Given the description of an element on the screen output the (x, y) to click on. 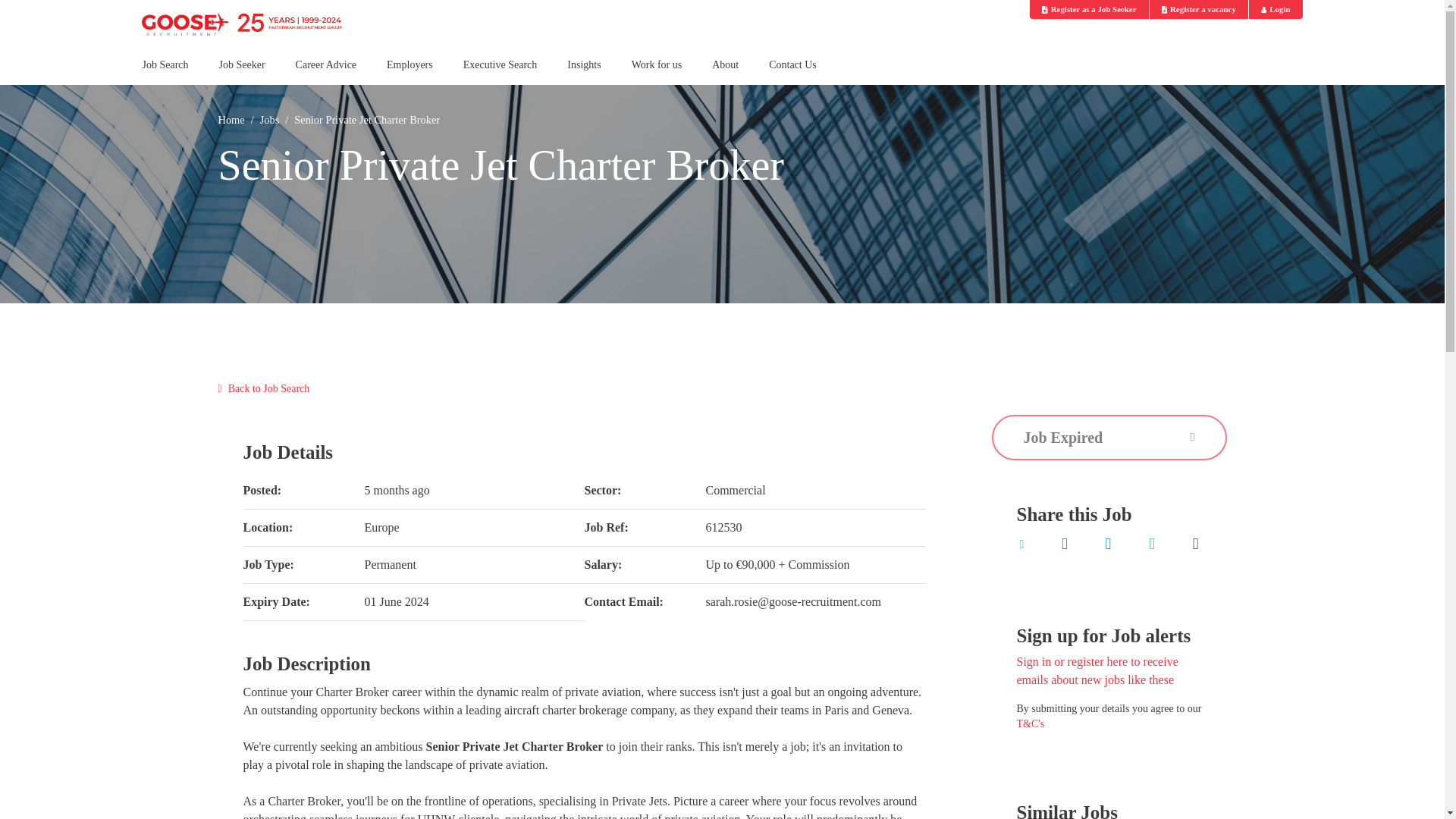
Job Search (165, 71)
Register a vacancy (1198, 9)
Login (1276, 9)
Career Advice (326, 71)
Employers (409, 71)
Executive Search (500, 71)
Job Seeker (242, 71)
Register as a Job Seeker (1088, 9)
